Given the description of an element on the screen output the (x, y) to click on. 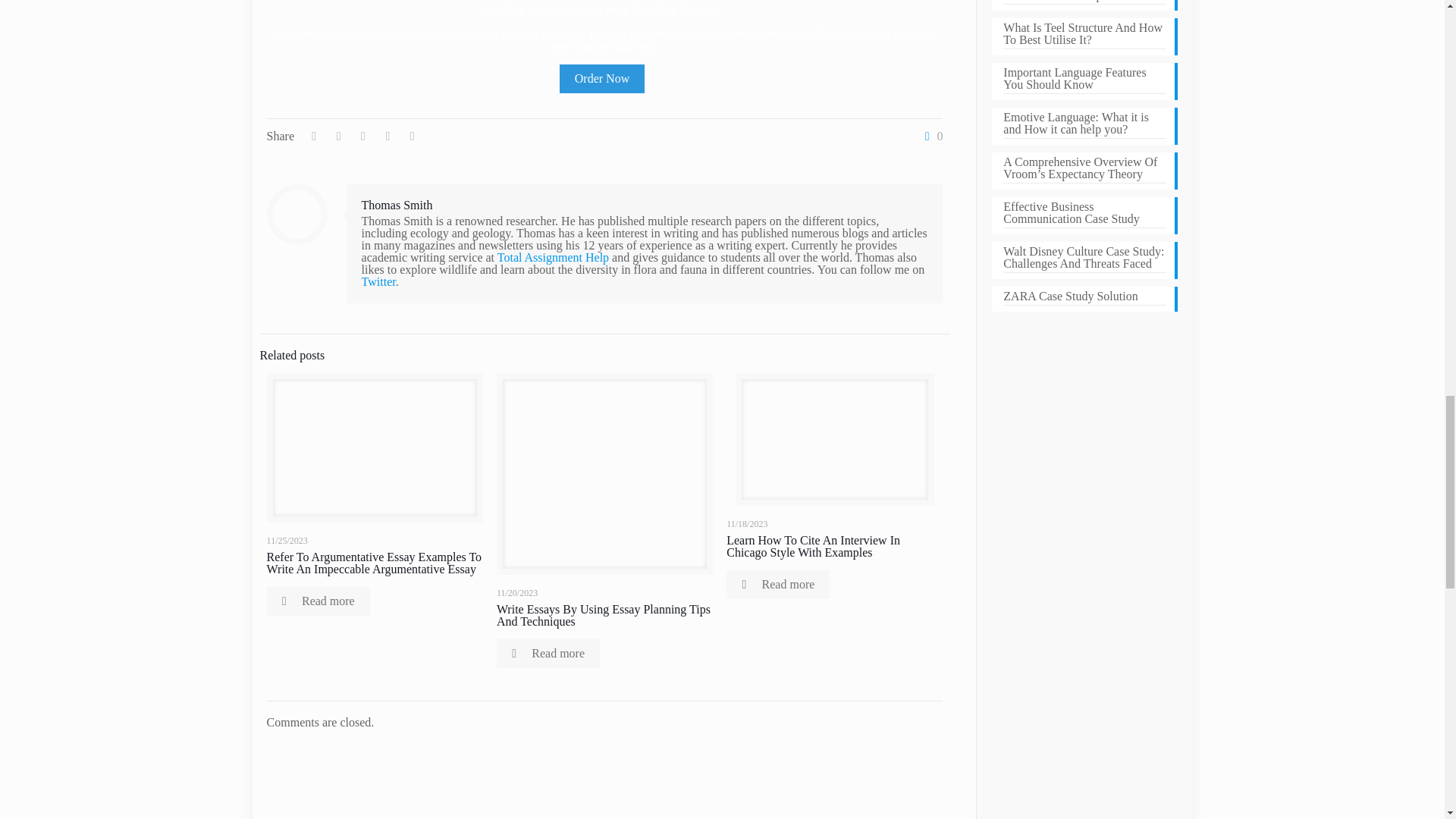
Order Now (602, 77)
Read more (547, 653)
0 (930, 136)
Twitter (378, 280)
Thomas Smith (396, 205)
Total Assignment Help (552, 256)
Read more (777, 584)
Read more (317, 601)
Write Essays By Using Essay Planning Tips And Techniques (603, 615)
